Given the description of an element on the screen output the (x, y) to click on. 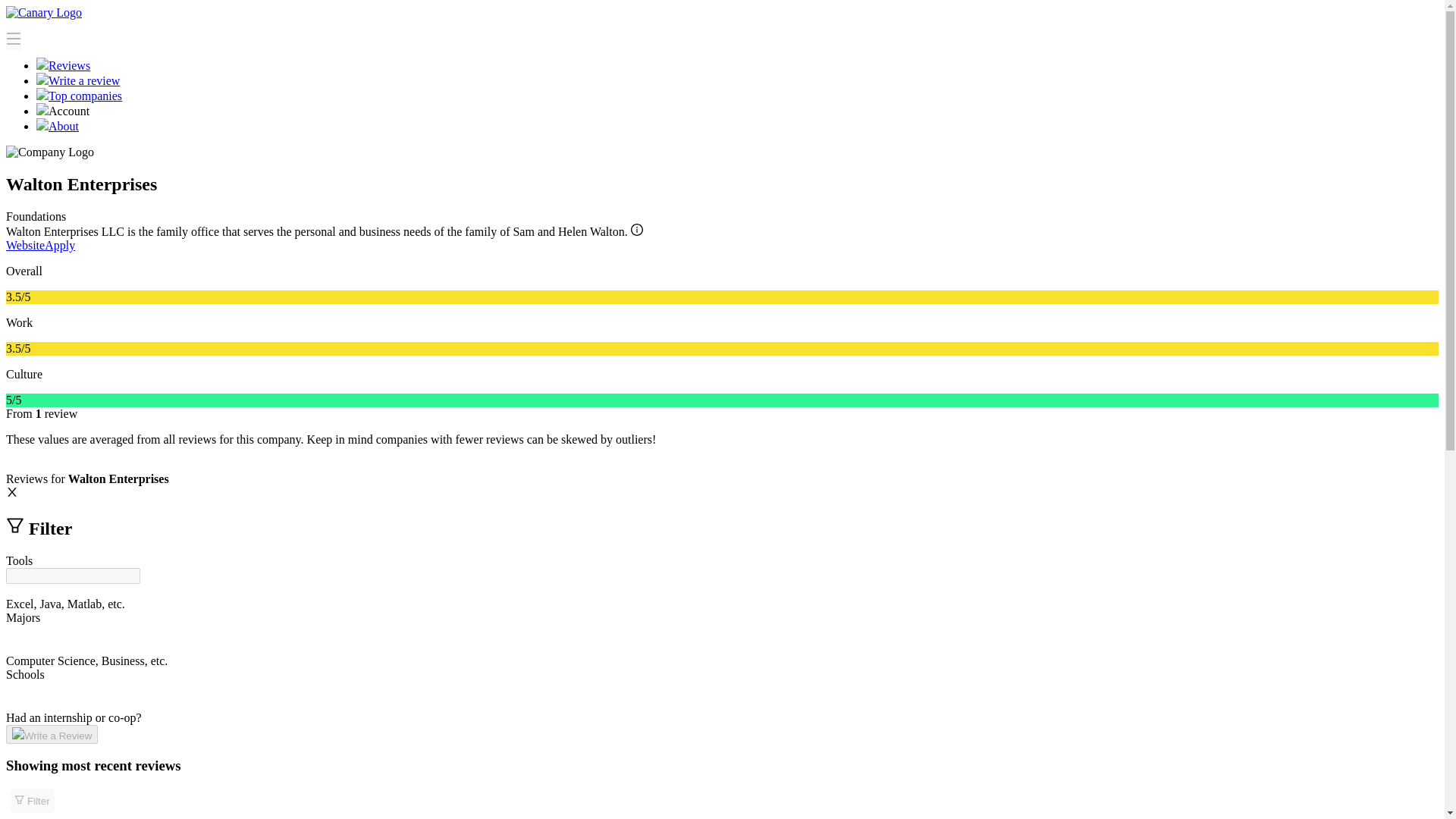
Write a Review (51, 733)
Schools (25, 674)
About (57, 125)
Majors (22, 617)
Filter (32, 800)
Top companies (79, 95)
Write a review (77, 80)
Reviews (63, 65)
Website (25, 245)
Apply (60, 245)
